Given the description of an element on the screen output the (x, y) to click on. 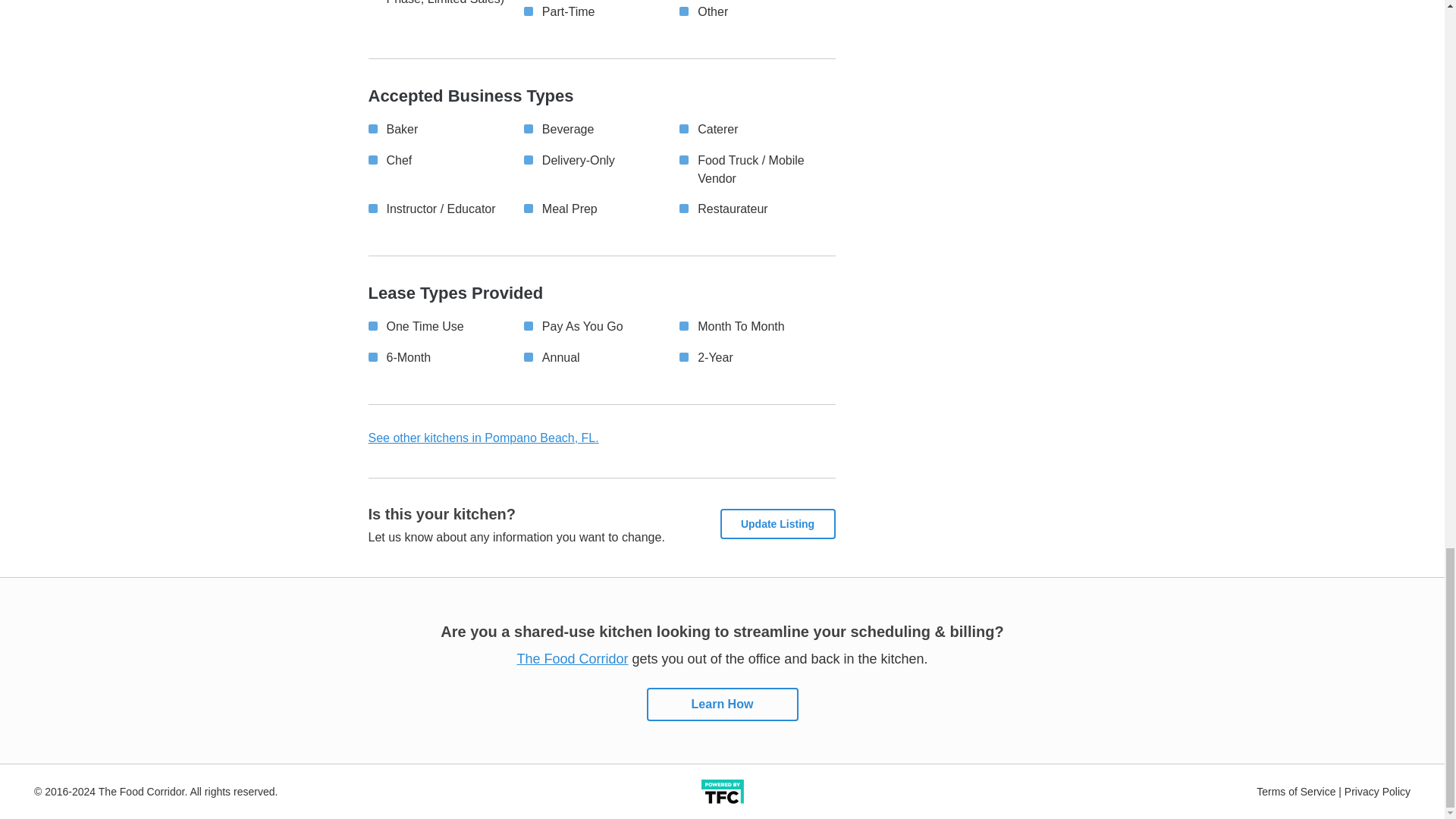
Update Listing (777, 523)
Update Listing (777, 523)
Privacy Policy (1376, 789)
The Food Corridor (572, 658)
The Food Corridor (721, 789)
See other kitchens in Pompano Beach, FL. (483, 437)
Terms of Service (1295, 789)
Privacy Policy (1376, 789)
The Food Coridor (721, 704)
Learn How (721, 704)
Terms of Service (1295, 789)
The Food Coridor (572, 658)
